Given the description of an element on the screen output the (x, y) to click on. 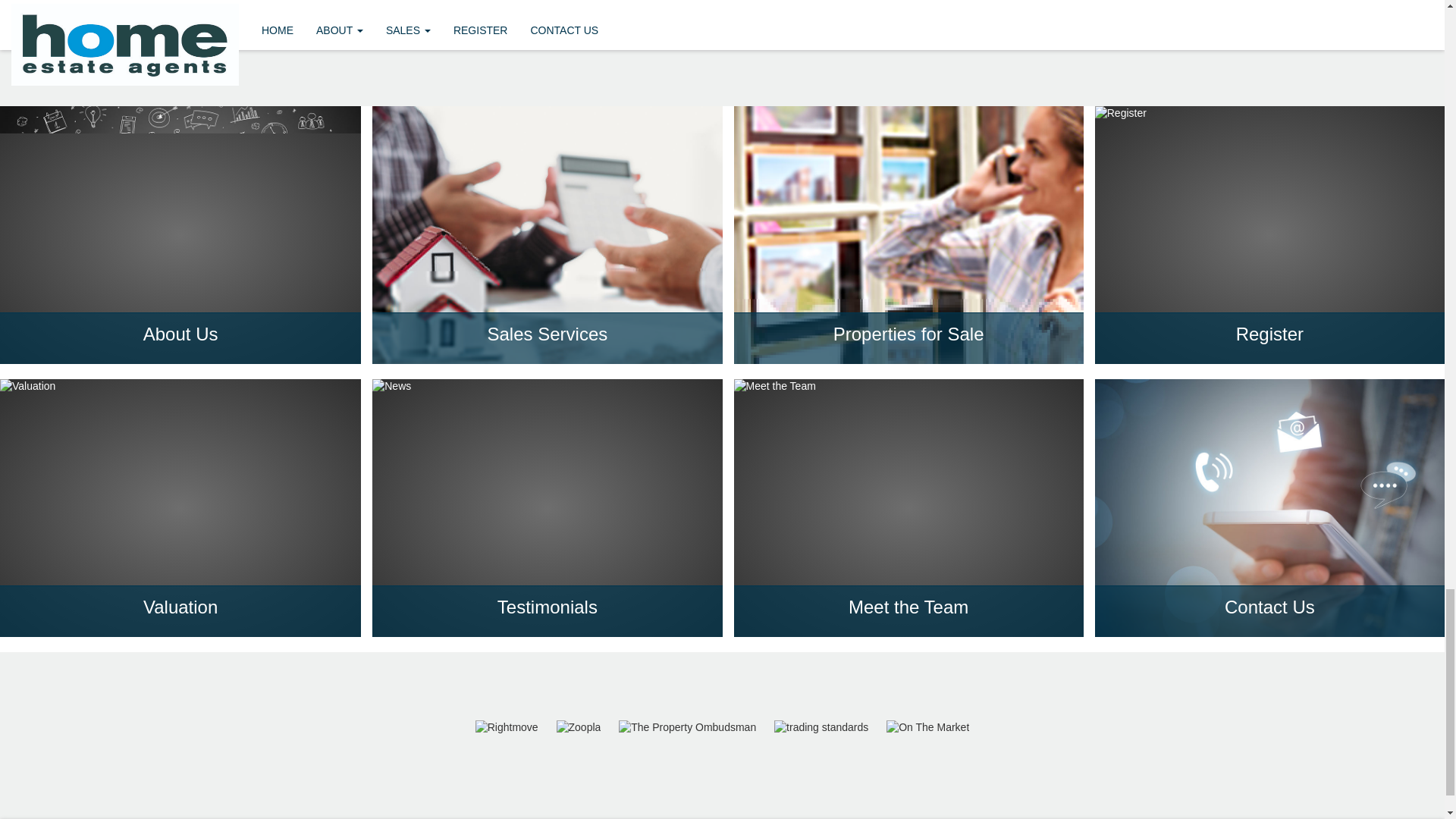
5:30 in the evening (967, 268)
5:00 in the evening (967, 218)
3:00 in the afternoon (972, 15)
4:30 in the afternoon (972, 167)
4:00 in the afternoon (972, 116)
6:00 in the evening (967, 319)
7:30 in the evening (967, 472)
8:00 in the evening (967, 522)
7:00 in the evening (967, 421)
3:30 in the afternoon (972, 65)
